Given the description of an element on the screen output the (x, y) to click on. 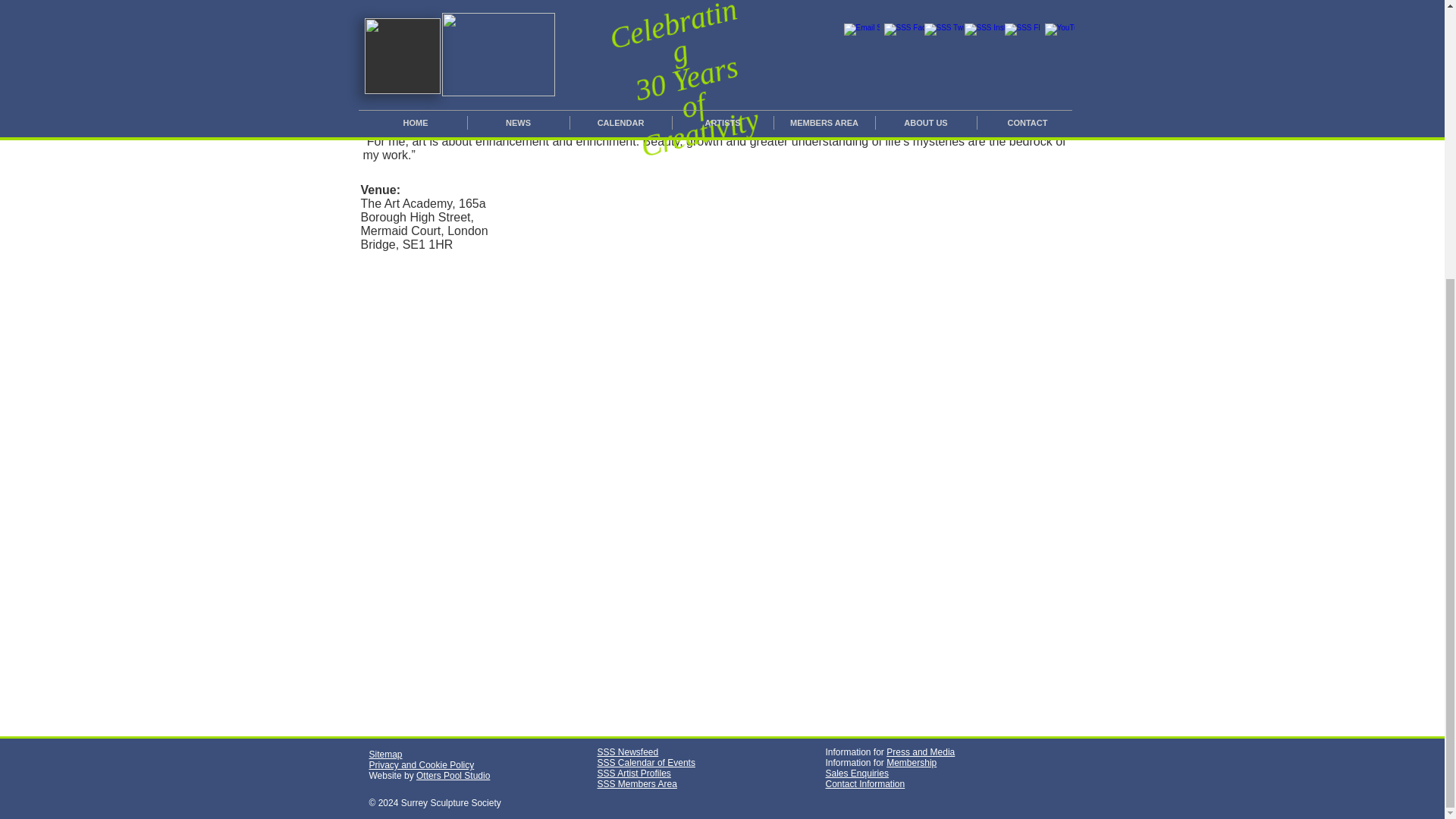
SSS Artist Profiles (633, 773)
Contact Information (864, 783)
Otters Pool Studio (452, 775)
Sitemap (384, 754)
SSS Calendar of Events (645, 762)
Press and Media (920, 751)
Membership (911, 762)
Veda Hallowes, An Artist Lecture (969, 6)
SSS Members Area (636, 783)
Privacy and Cookie Policy (421, 765)
SSS Newsfeed (627, 751)
Sales Enquiries (856, 773)
